Given the description of an element on the screen output the (x, y) to click on. 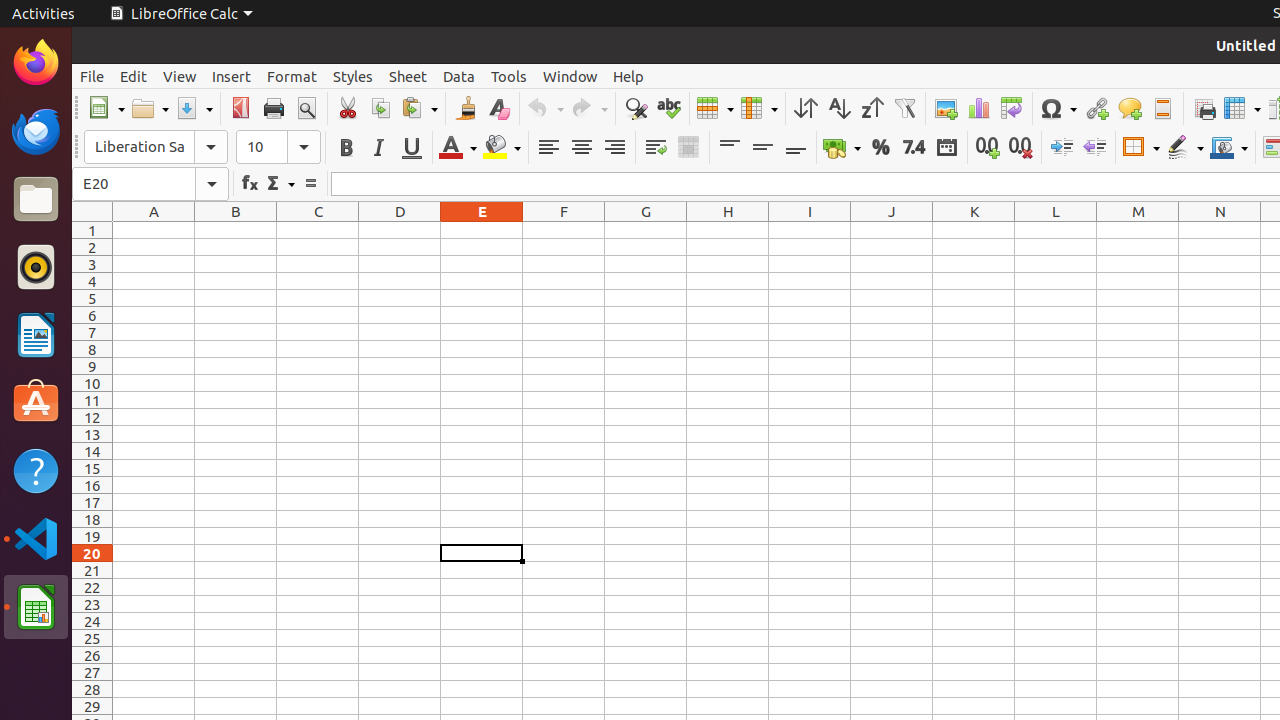
Cut Element type: push-button (347, 108)
Align Top Element type: push-button (729, 147)
Background Color Element type: push-button (502, 147)
Sort Element type: push-button (805, 108)
Clear Element type: push-button (498, 108)
